Given the description of an element on the screen output the (x, y) to click on. 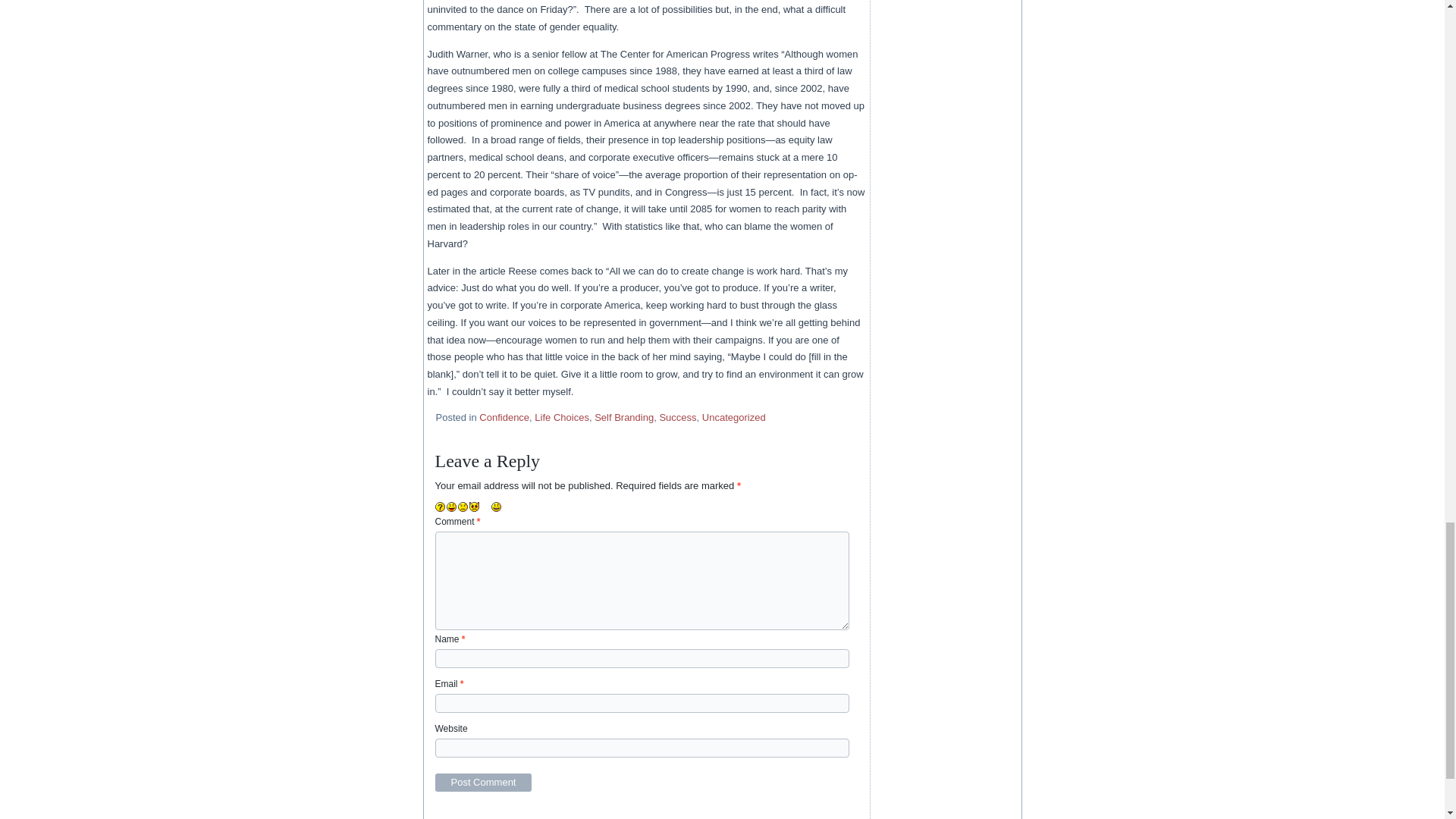
Post Comment (483, 782)
Uncategorized (733, 417)
Success (677, 417)
Life Choices (561, 417)
Self Branding (623, 417)
Confidence (504, 417)
Post Comment (483, 782)
